Given the description of an element on the screen output the (x, y) to click on. 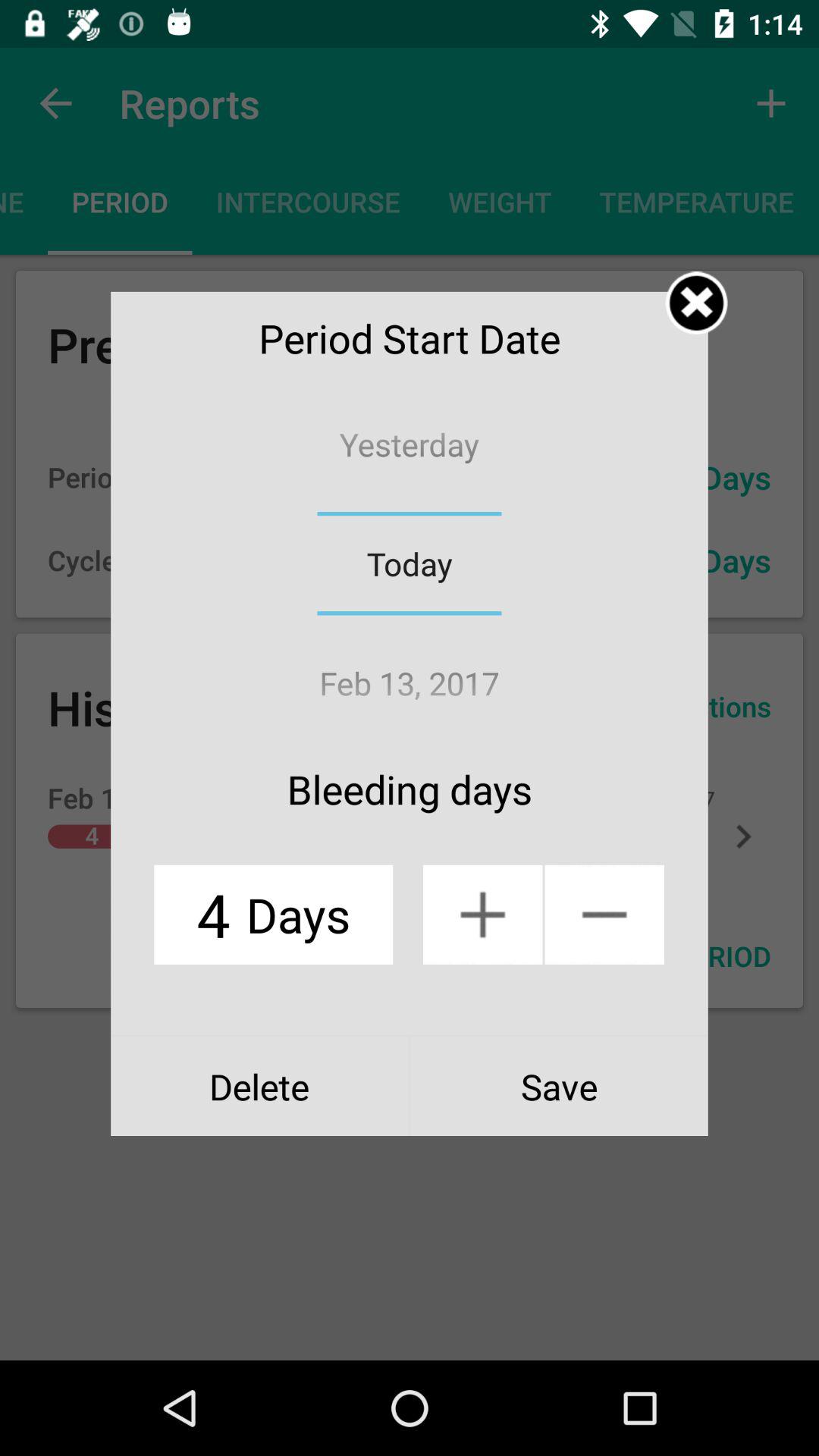
less the option (604, 914)
